Given the description of an element on the screen output the (x, y) to click on. 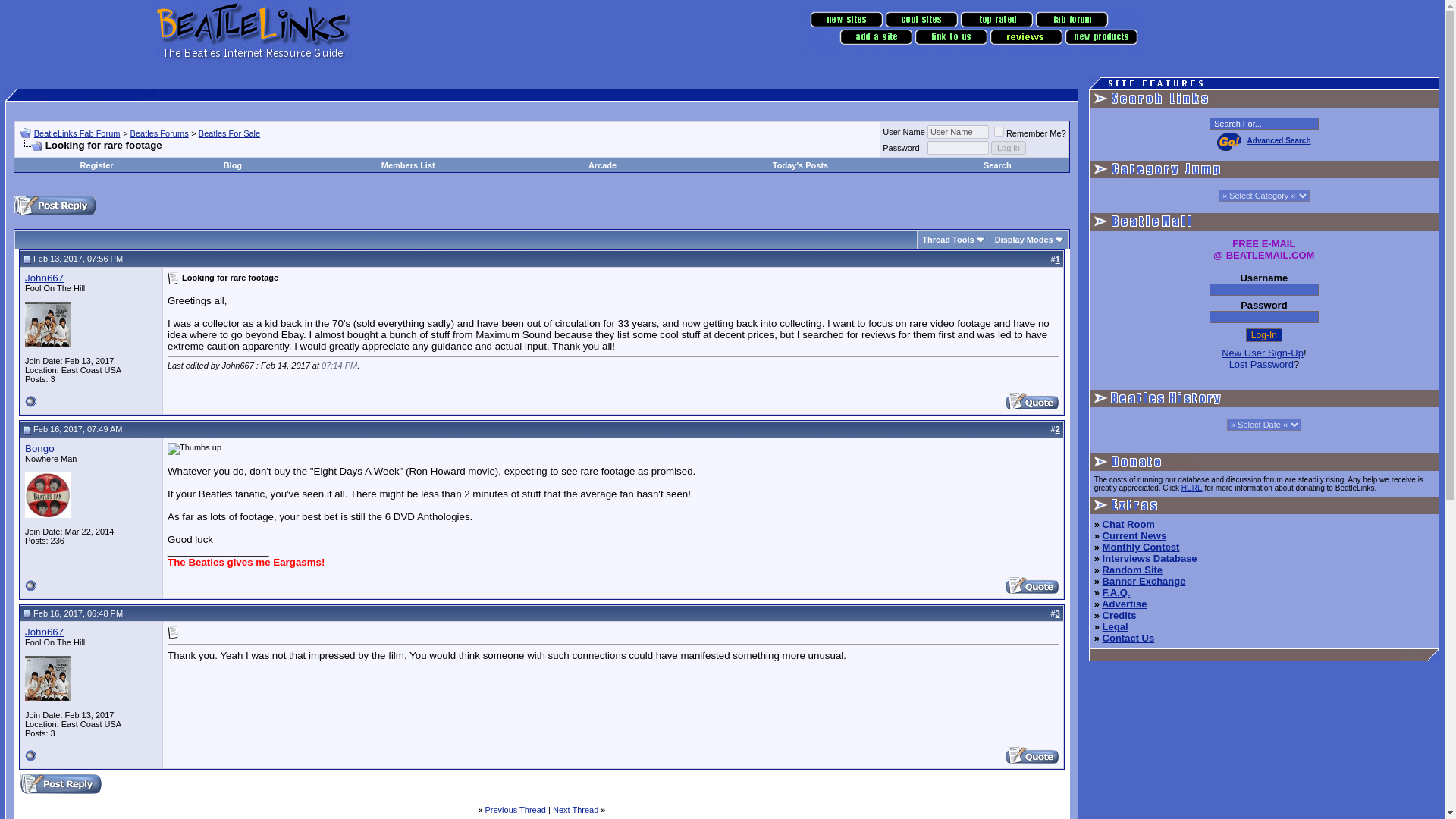
Beatles Forums (160, 133)
Blog (232, 164)
User Name (957, 131)
Log-In (1264, 335)
Nav Panel (974, 30)
Default (173, 277)
John667 (44, 277)
Old (26, 259)
Reply (55, 205)
Bongo (39, 448)
Thread Tools (947, 239)
BeatleLinks Fab Forum (76, 133)
GO! (1229, 139)
 Search For... (1264, 123)
